Given the description of an element on the screen output the (x, y) to click on. 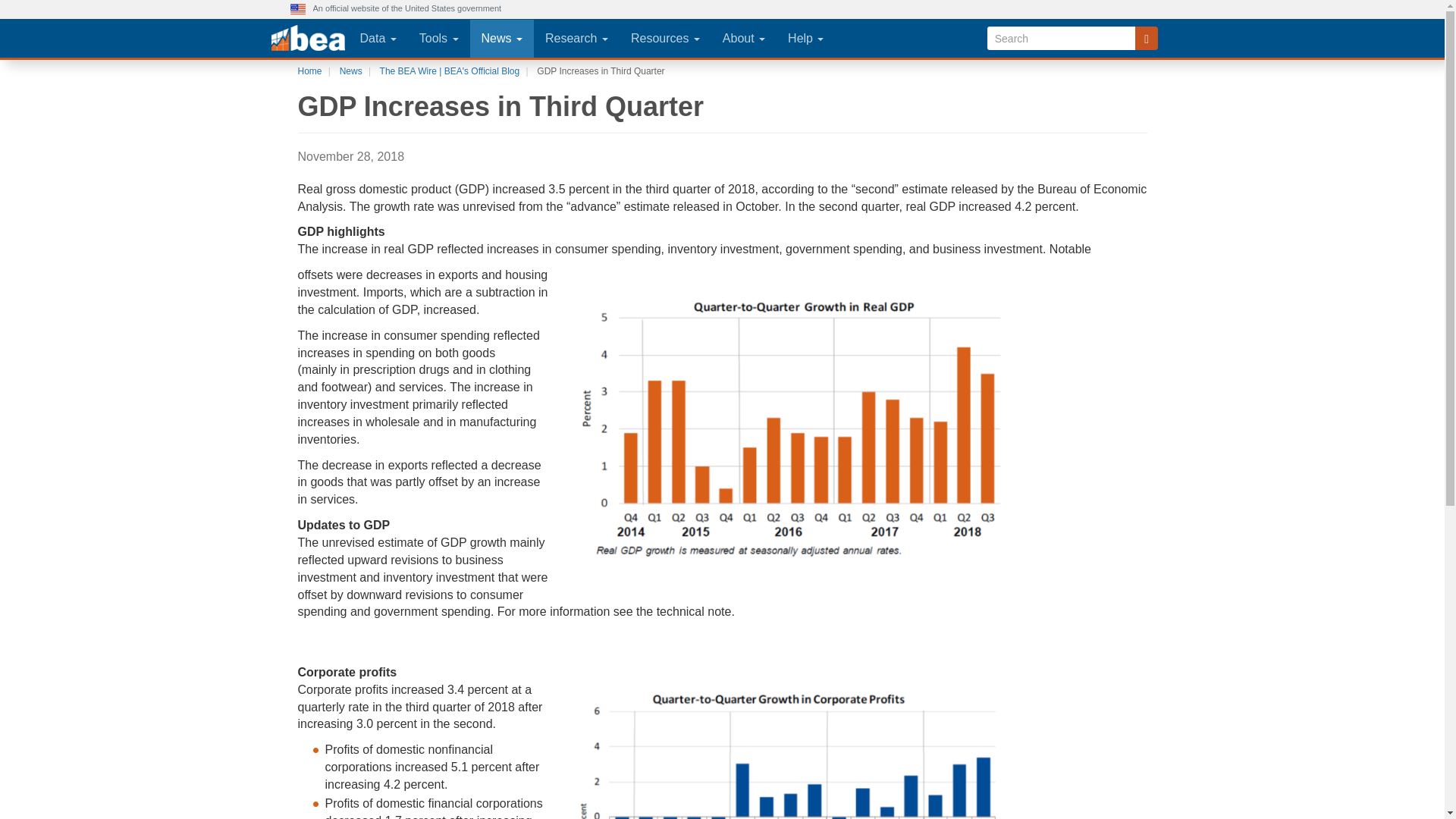
Research (577, 38)
News (502, 38)
Data (378, 38)
About (743, 38)
Tools (438, 38)
Resources (665, 38)
